Given the description of an element on the screen output the (x, y) to click on. 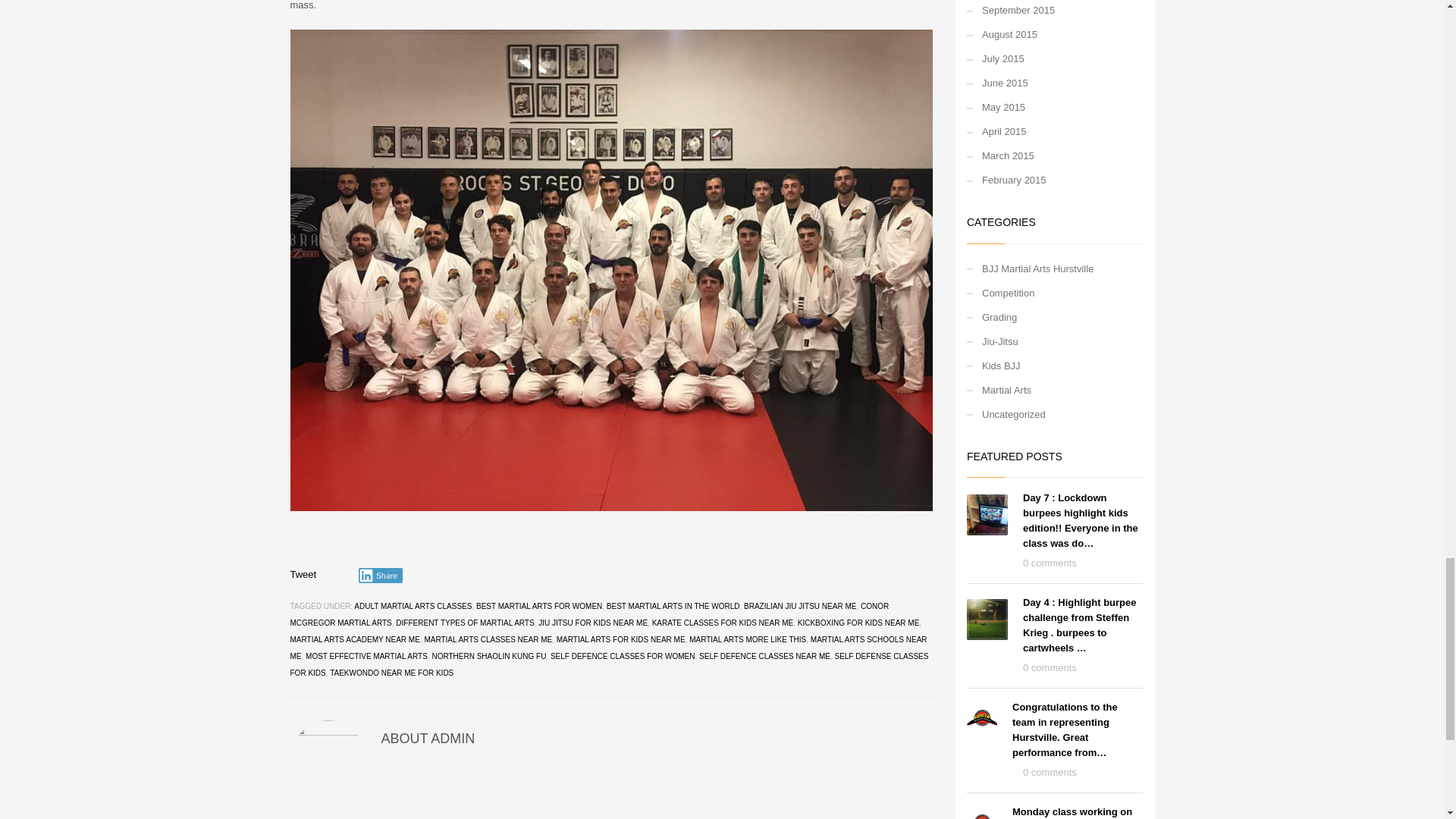
BEST MARTIAL ARTS IN THE WORLD (673, 605)
Tweet (302, 573)
BEST MARTIAL ARTS FOR WOMEN (539, 605)
BRAZILIAN JIU JITSU NEAR ME (800, 605)
ADULT MARTIAL ARTS CLASSES (412, 605)
Share (380, 575)
